Given the description of an element on the screen output the (x, y) to click on. 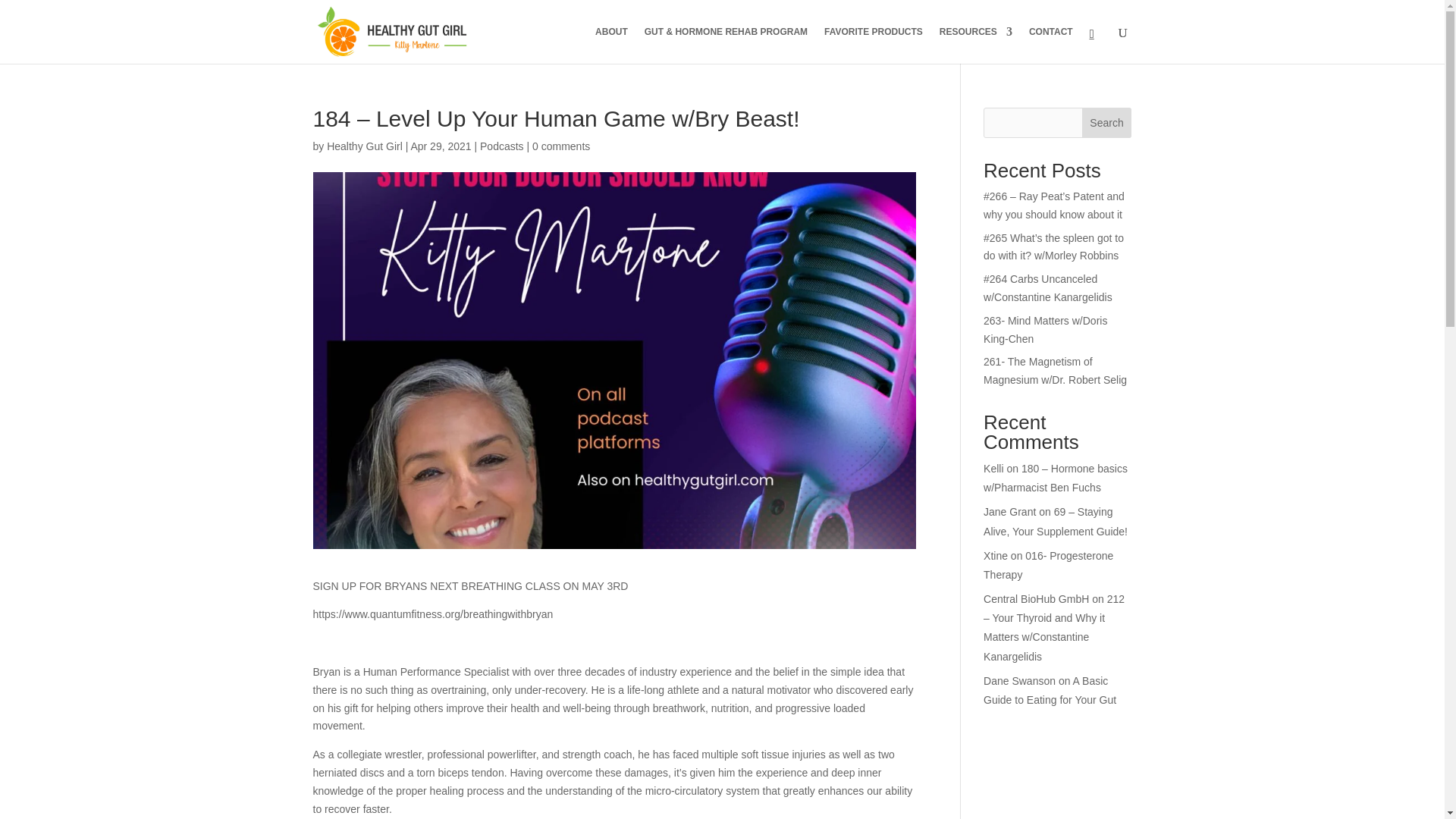
A Basic Guide to Eating for Your Gut (1050, 689)
Central BioHub GmbH (1036, 598)
Search (1106, 122)
Podcasts (502, 146)
FAVORITE PRODUCTS (873, 44)
RESOURCES (975, 44)
0 comments (560, 146)
CONTACT (1051, 44)
016- Progesterone Therapy (1048, 564)
Healthy Gut Girl (364, 146)
Dane Swanson (1019, 680)
Posts by Healthy Gut Girl (364, 146)
